Given the description of an element on the screen output the (x, y) to click on. 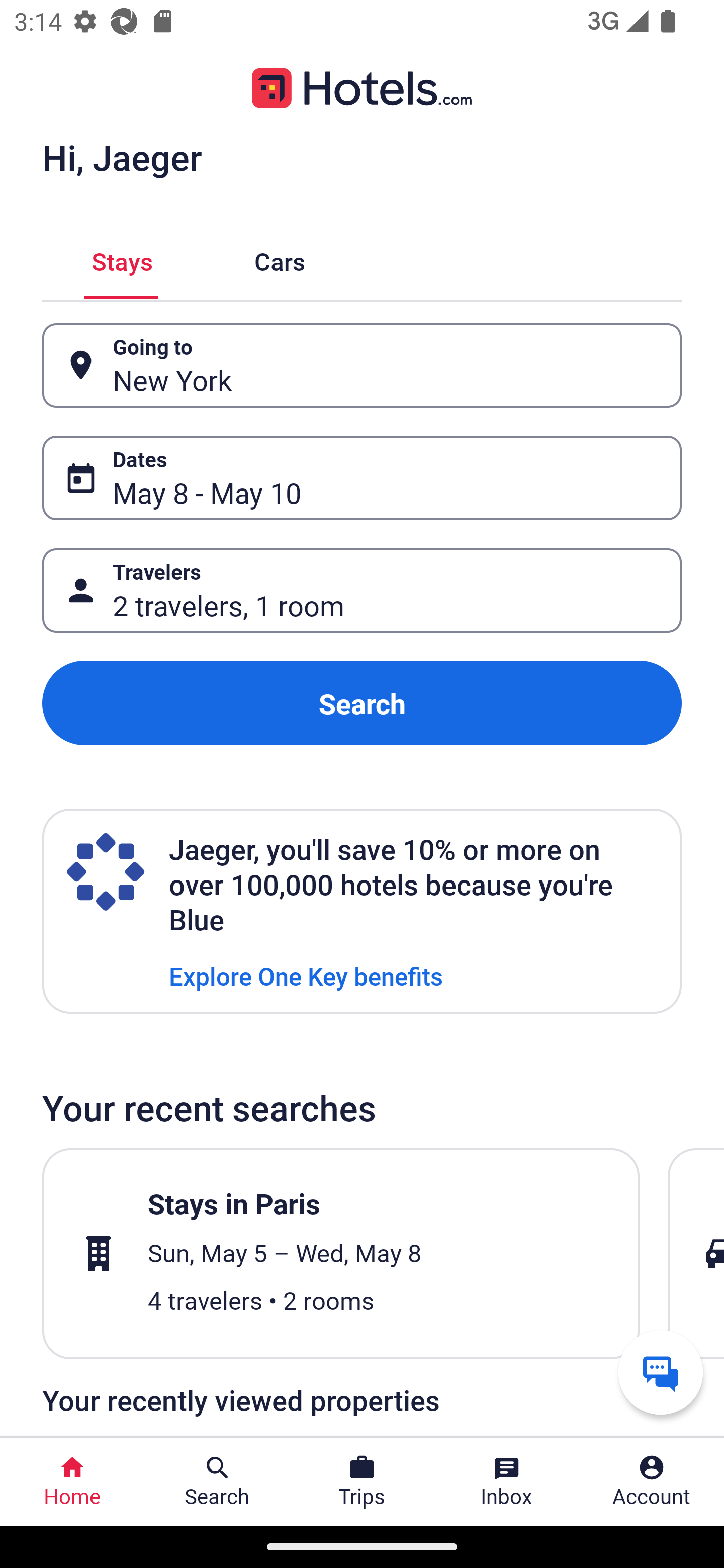
Hi, Jaeger (121, 156)
Cars (279, 259)
Going to Button New York (361, 365)
Dates Button May 8 - May 10 (361, 477)
Travelers Button 2 travelers, 1 room (361, 590)
Search (361, 702)
Get help from a virtual agent (660, 1371)
Search Search Button (216, 1481)
Trips Trips Button (361, 1481)
Inbox Inbox Button (506, 1481)
Account Profile. Button (651, 1481)
